Given the description of an element on the screen output the (x, y) to click on. 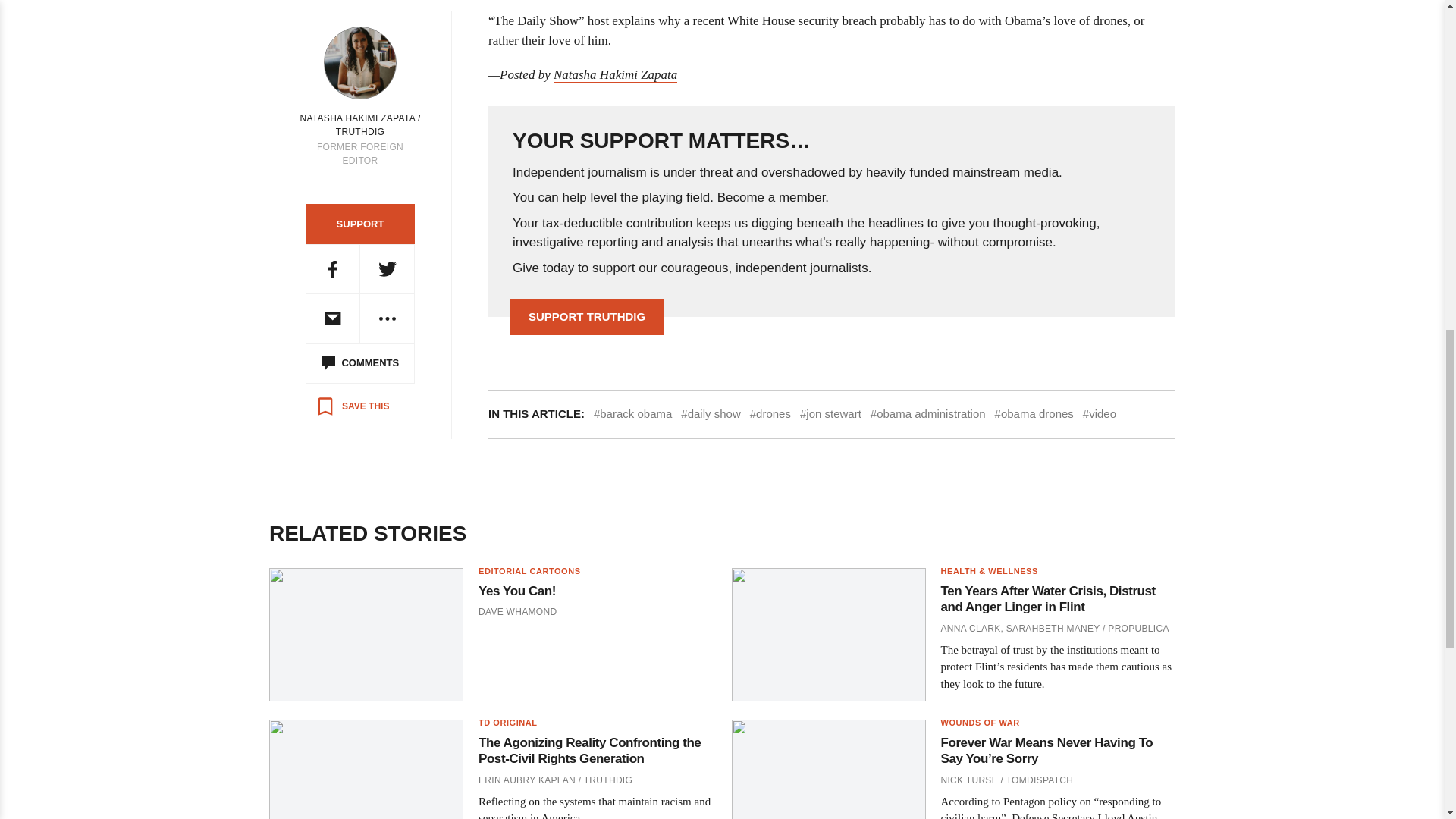
Save to read later (351, 406)
Natasha Hakimi Zapata (615, 74)
